Given the description of an element on the screen output the (x, y) to click on. 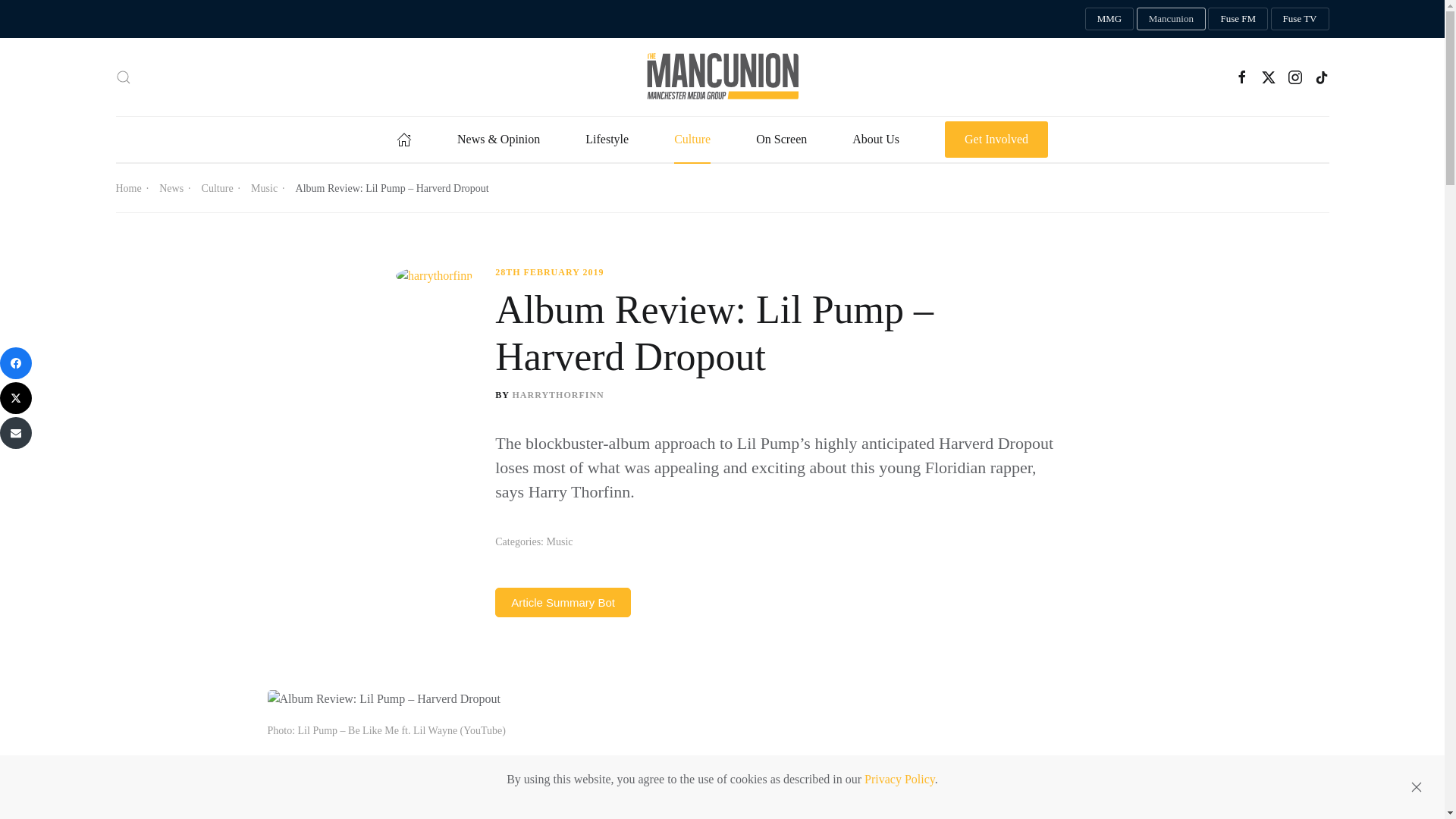
Manchester Fuse TV (1300, 18)
Manchester Fuse FM (1238, 18)
Mancunion (1171, 18)
Fuse FM (1238, 18)
Manchester Media Group (1109, 18)
Manchester University Mancunion Newspaper (1171, 18)
Fuse TV (1300, 18)
MMG (1109, 18)
Posts by harrythorfinn (558, 394)
